Given the description of an element on the screen output the (x, y) to click on. 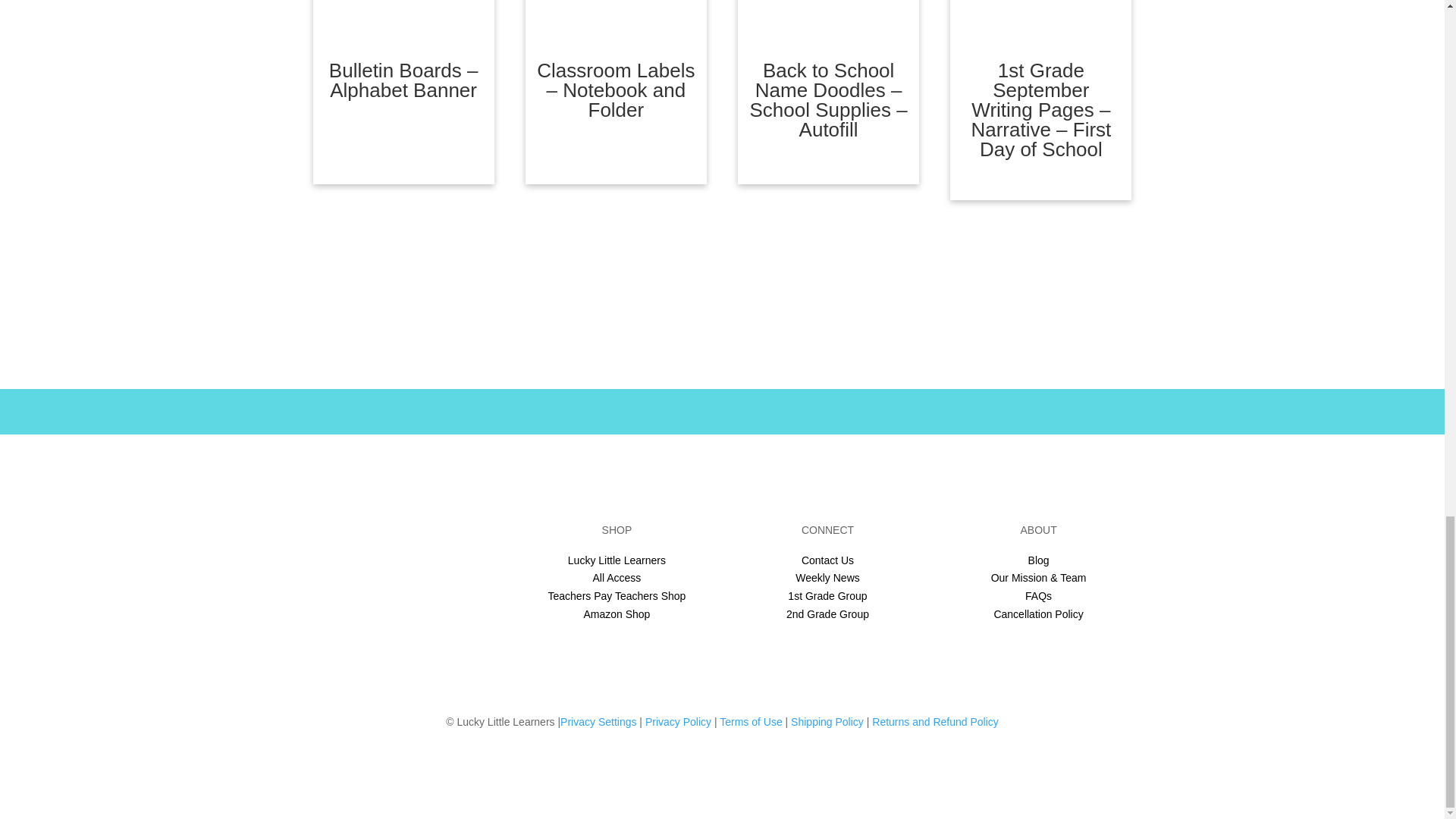
Follow on Youtube (451, 625)
Follow on Facebook (359, 625)
Follow on Pinterest (420, 625)
Follow on Instagram (390, 625)
all access membership library logo (406, 561)
